Given the description of an element on the screen output the (x, y) to click on. 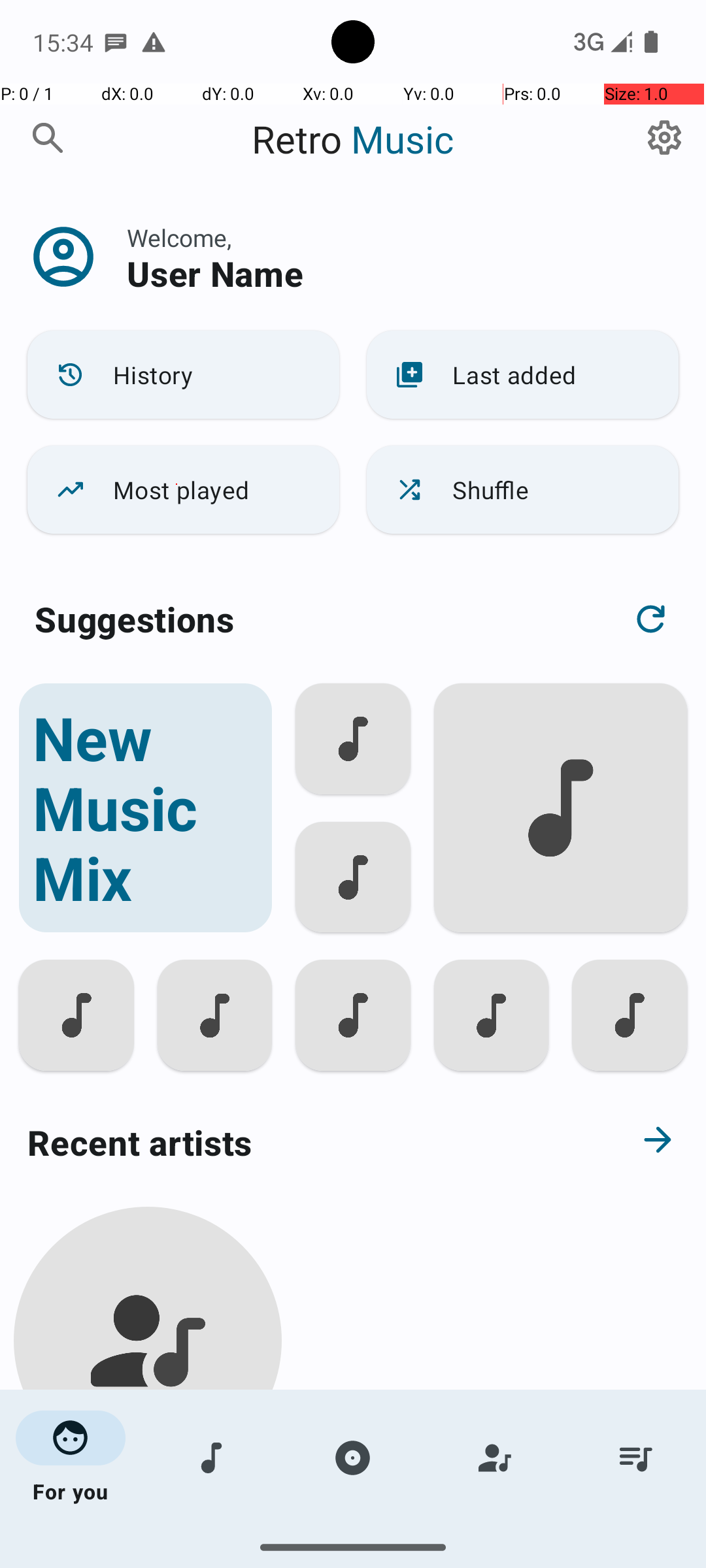
Retro Music Element type: android.widget.TextView (352, 138)
For you Element type: android.widget.FrameLayout (70, 1457)
Songs Element type: android.widget.FrameLayout (211, 1457)
Albums Element type: android.widget.FrameLayout (352, 1457)
Artists Element type: android.widget.FrameLayout (493, 1457)
Playlists Element type: android.widget.FrameLayout (635, 1457)
Welcome, Element type: android.widget.TextView (179, 237)
User Name Element type: android.widget.TextView (214, 273)
Last added Element type: android.widget.Button (522, 374)
Most played Element type: android.widget.Button (183, 489)
Shuffle Element type: android.widget.Button (522, 489)
Suggestions Element type: android.widget.TextView (134, 618)
New Music Mix Element type: android.widget.TextView (144, 807)
Recent artists Element type: android.widget.TextView (304, 1141)
Recent albums Element type: android.widget.TextView (304, 1557)
Aria Element type: android.widget.TextView (147, 1503)
